Given the description of an element on the screen output the (x, y) to click on. 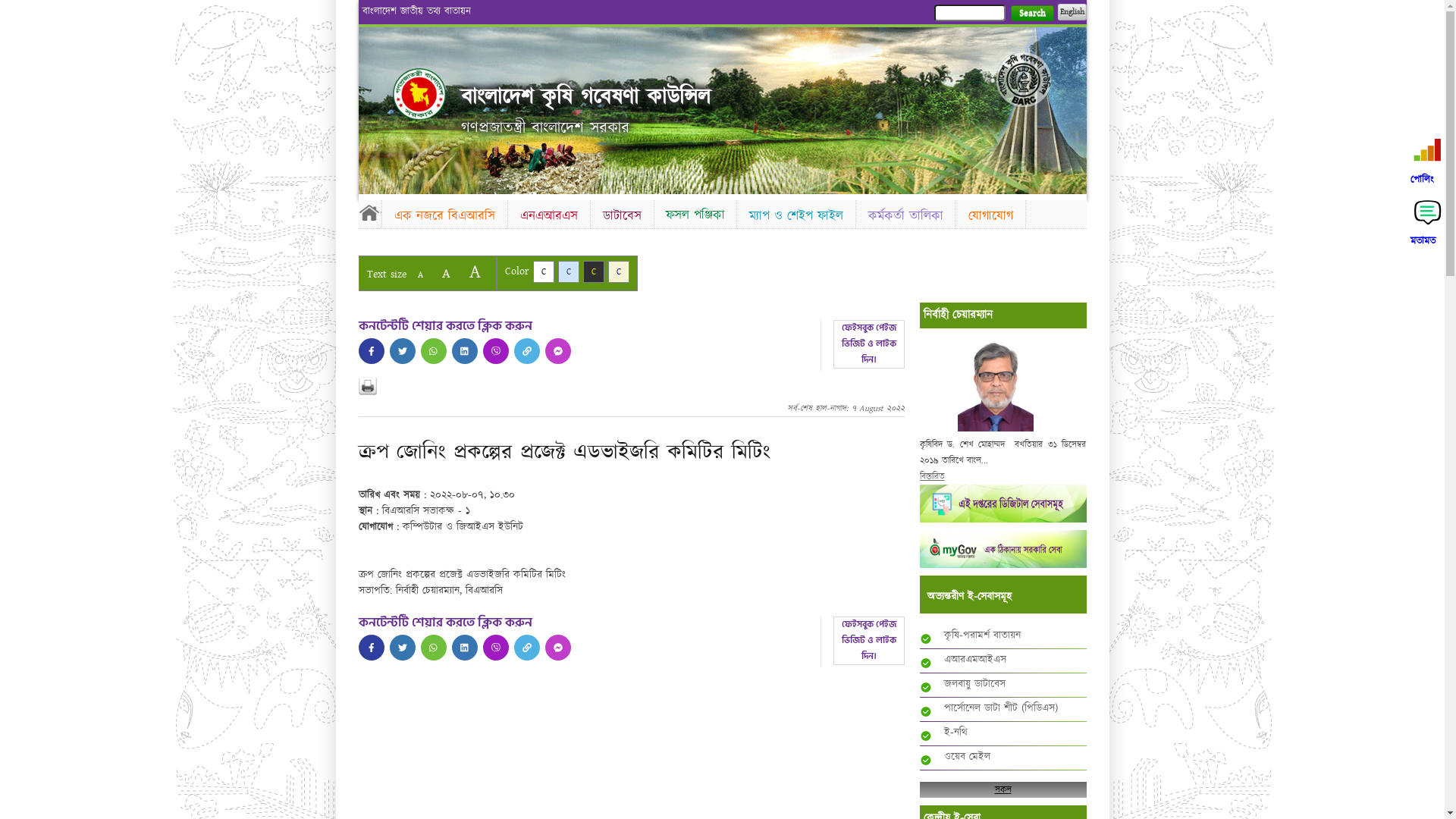
Home Element type: hover (368, 211)
C Element type: text (542, 271)
A Element type: text (445, 273)
A Element type: text (419, 274)
C Element type: text (568, 271)
C Element type: text (618, 271)
English Element type: text (1071, 11)
C Element type: text (592, 271)
A Element type: text (474, 271)
Search Element type: text (1031, 13)
Home Element type: hover (418, 93)
